Given the description of an element on the screen output the (x, y) to click on. 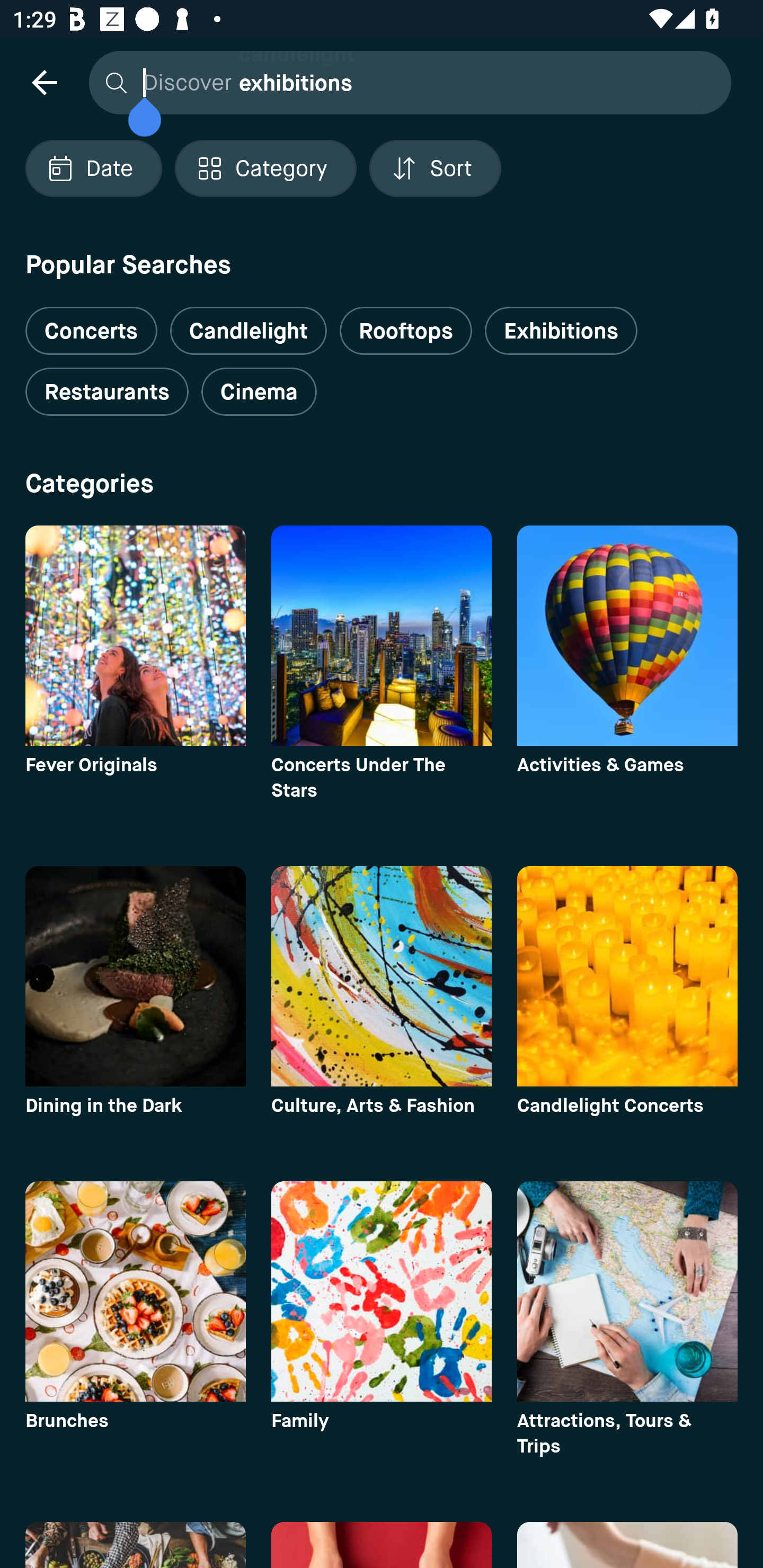
navigation icon (44, 81)
Discover candlelight exhibitions (405, 81)
Localized description Date (93, 168)
Localized description Category (265, 168)
Localized description Sort (435, 168)
Concerts (91, 323)
Candlelight (248, 330)
Rooftops (405, 330)
Exhibitions (560, 330)
Restaurants (106, 391)
Cinema (258, 391)
category image (135, 635)
category image (381, 635)
category image (627, 635)
category image (135, 975)
category image (381, 975)
category image (627, 975)
category image (135, 1290)
category image (381, 1290)
category image (627, 1290)
